Given the description of an element on the screen output the (x, y) to click on. 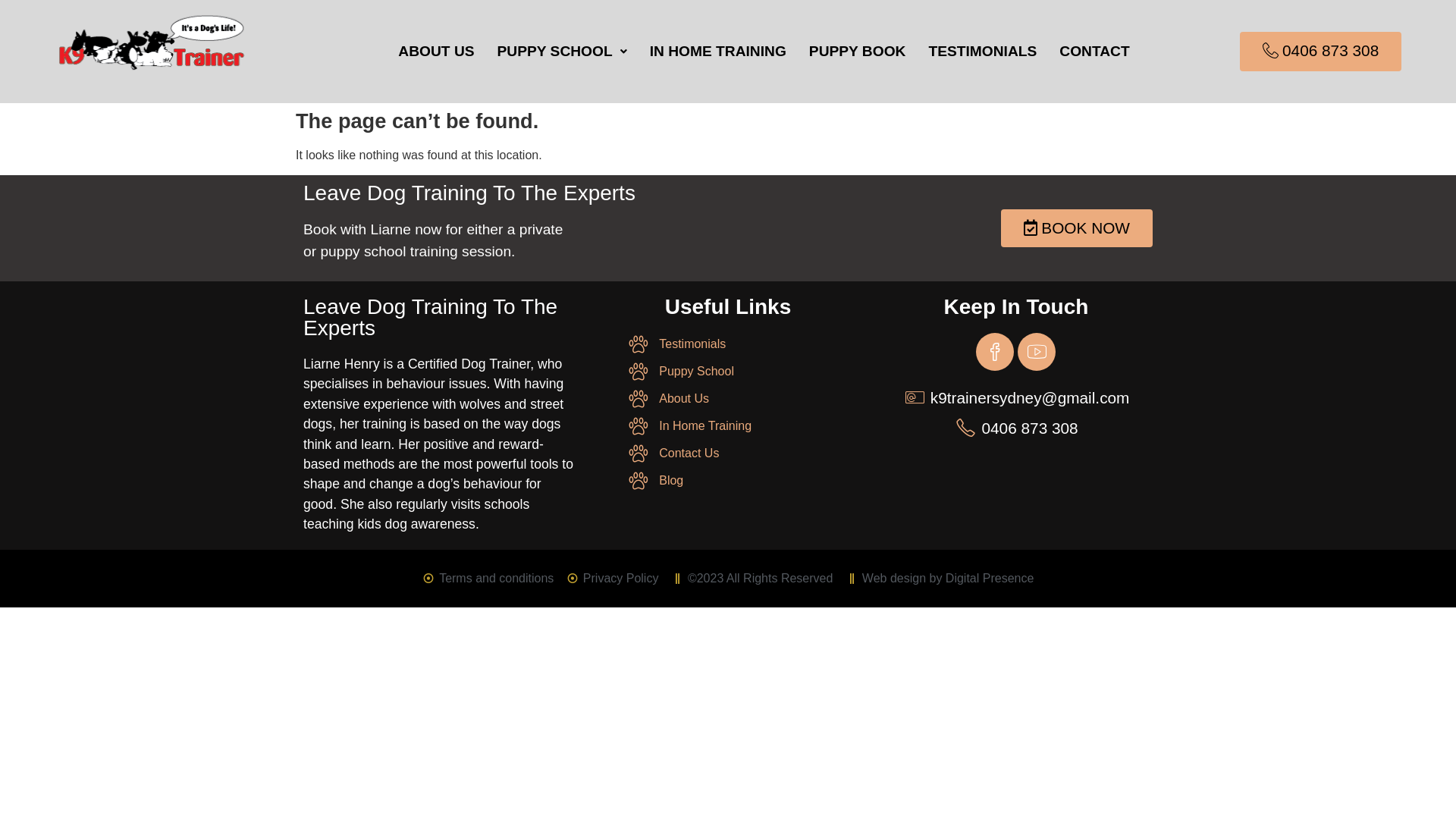
TESTIMONIALS Element type: text (982, 50)
0406 873 308 Element type: text (1320, 51)
Terms and conditions Element type: text (488, 578)
About Us Element type: text (727, 398)
Privacy Policy Element type: text (611, 578)
PUPPY BOOK Element type: text (857, 50)
Puppy School Element type: text (727, 371)
CONTACT Element type: text (1094, 50)
IN HOME TRAINING Element type: text (717, 50)
BOOK NOW Element type: text (1076, 228)
Web design by Digital Presence Element type: text (938, 578)
Blog Element type: text (727, 480)
Testimonials Element type: text (727, 343)
ABOUT US Element type: text (435, 50)
In Home Training Element type: text (727, 425)
Contact Us Element type: text (727, 453)
PUPPY SCHOOL Element type: text (562, 50)
